Given the description of an element on the screen output the (x, y) to click on. 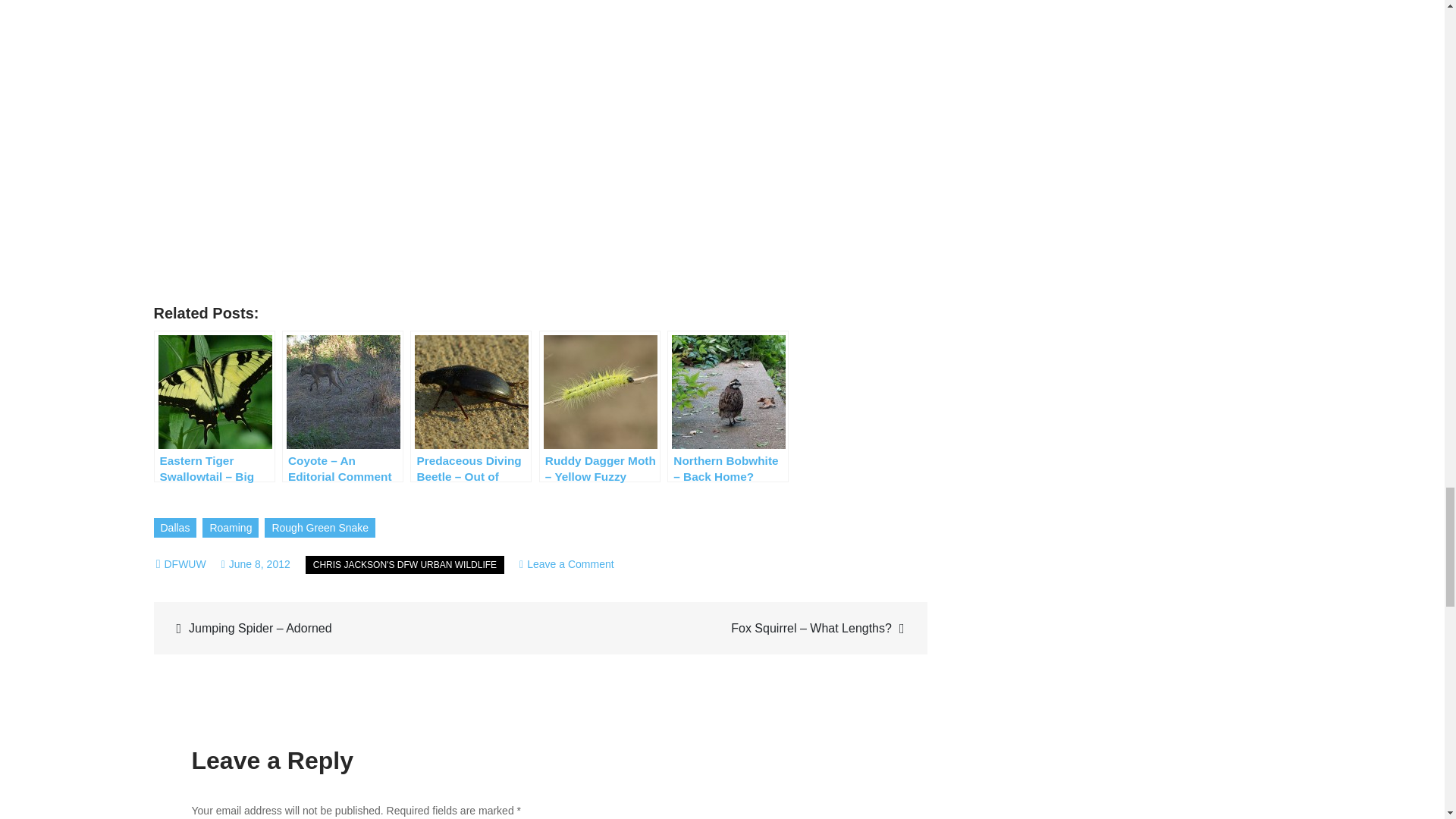
DFWUW (184, 563)
Roaming (230, 527)
CHRIS JACKSON'S DFW URBAN WILDLIFE (404, 565)
Dallas (174, 527)
Rough Green Snake (319, 527)
June 8, 2012 (255, 563)
